Given the description of an element on the screen output the (x, y) to click on. 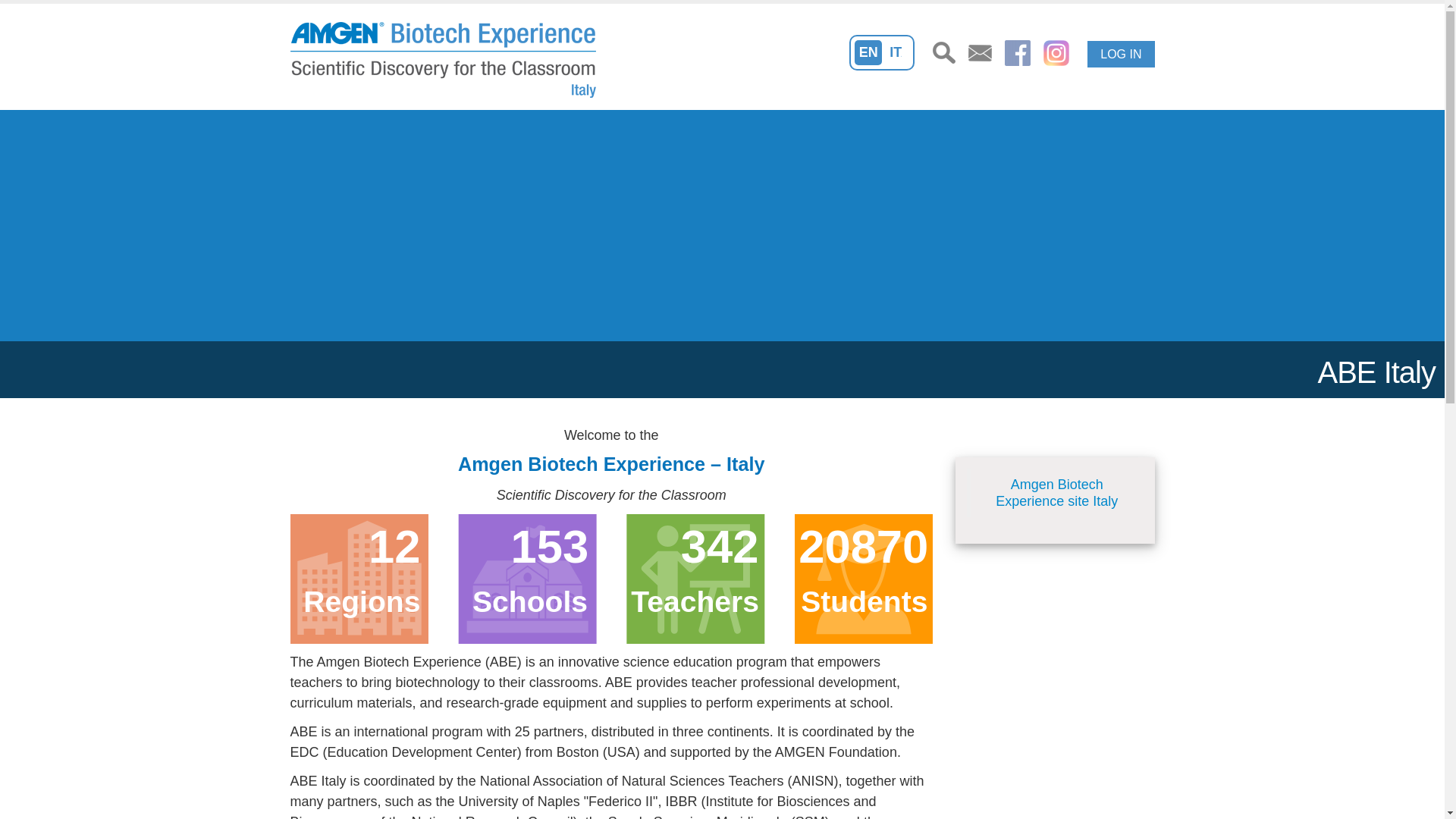
Amgen Biotech Experience site Italy (1056, 492)
ENGLISH (868, 51)
LOG IN (1120, 53)
